Given the description of an element on the screen output the (x, y) to click on. 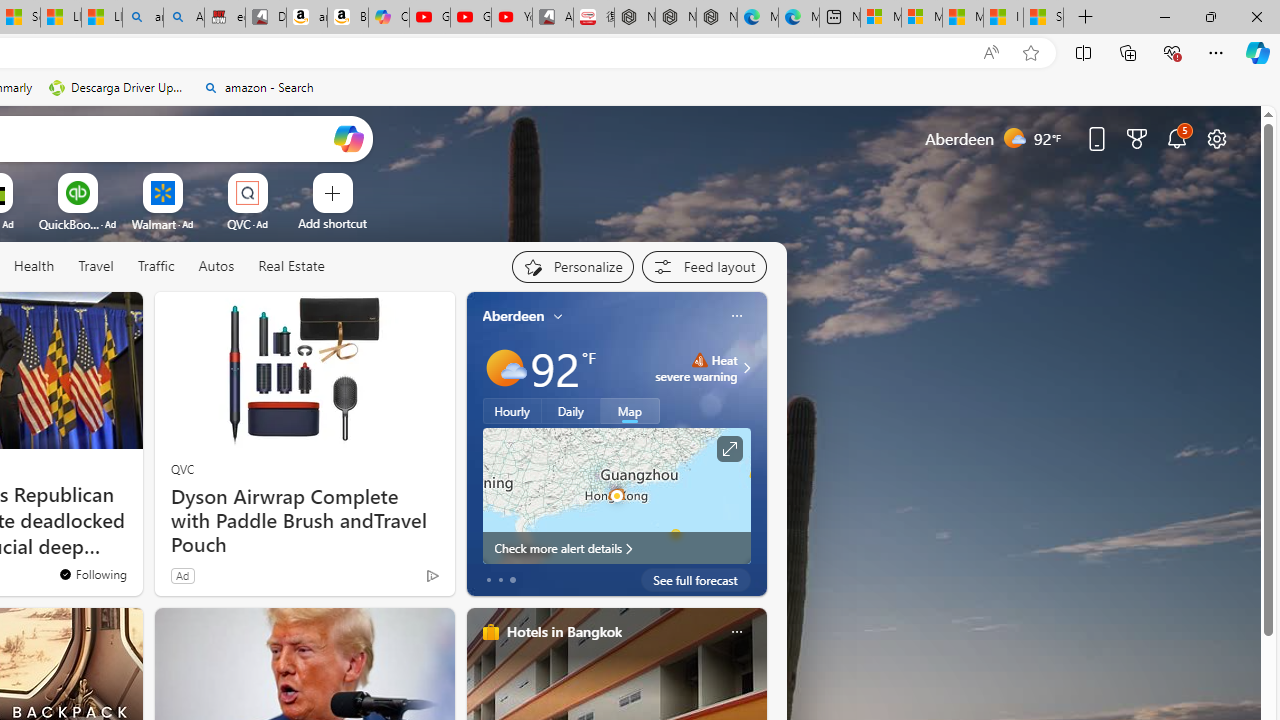
See full forecast (695, 579)
Copilot (388, 17)
Heat - Severe Heat severe warning (696, 367)
